Given the description of an element on the screen output the (x, y) to click on. 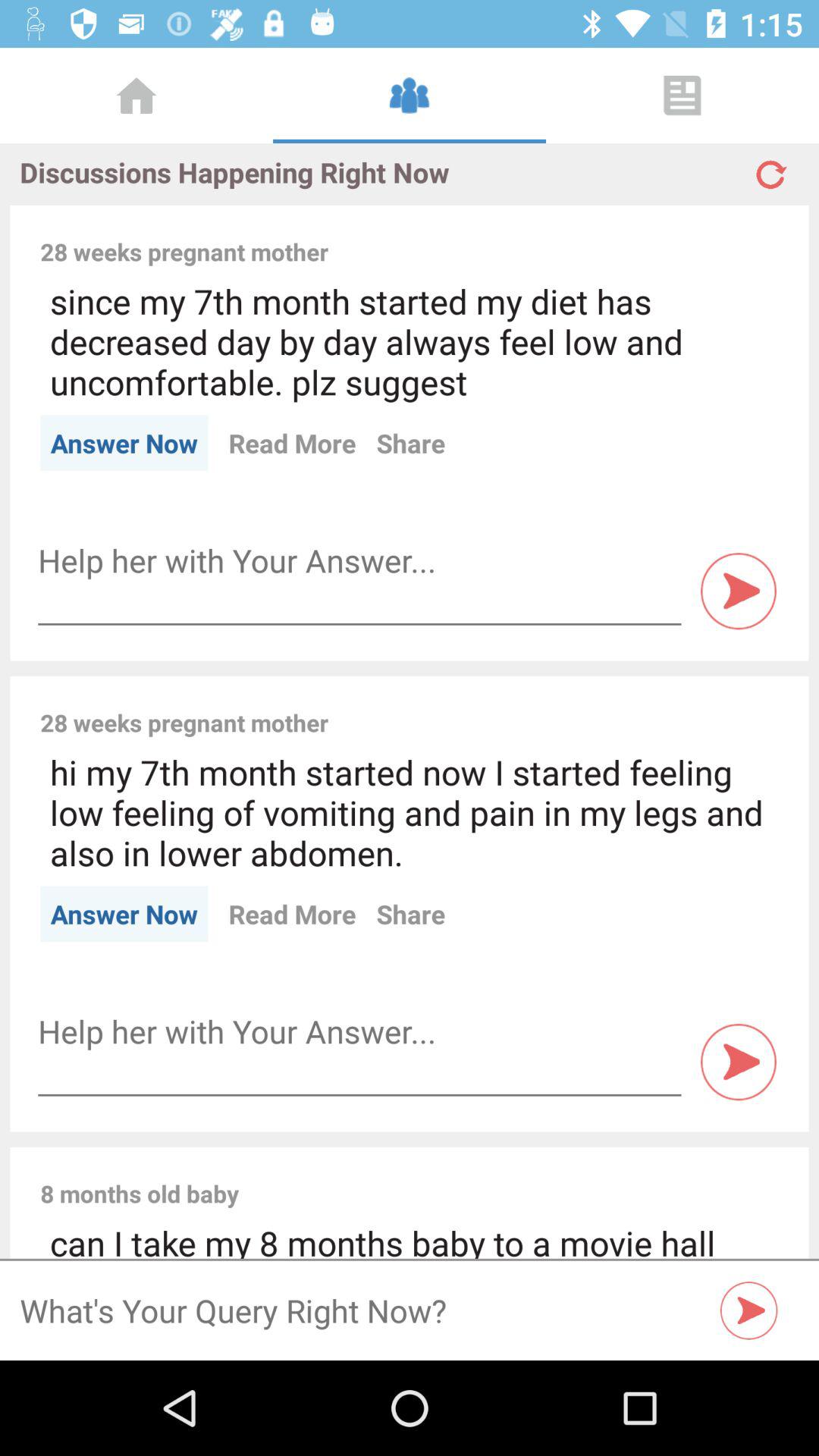
write the answer and go to the next (359, 560)
